Given the description of an element on the screen output the (x, y) to click on. 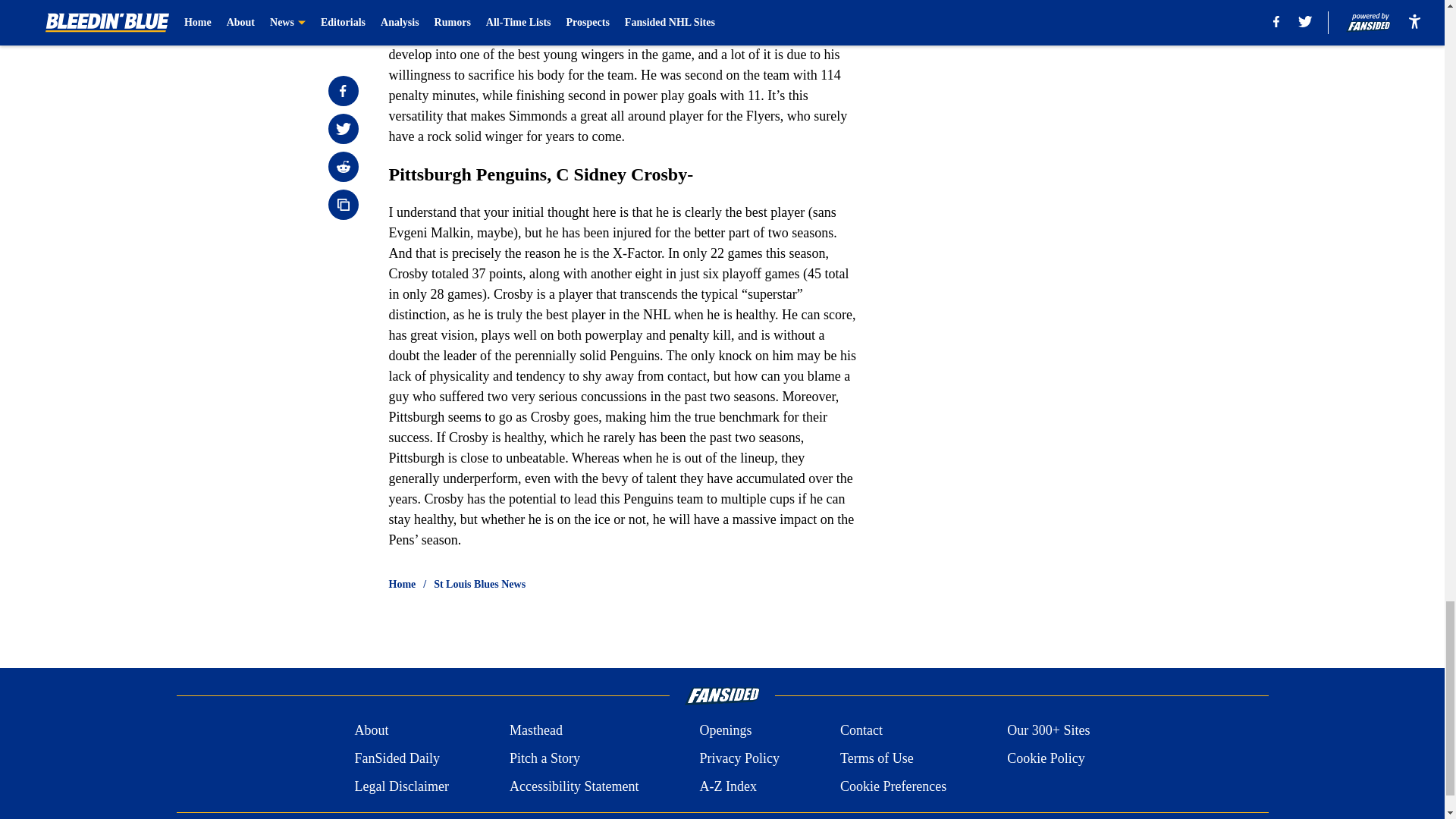
Terms of Use (877, 758)
Cookie Preferences (893, 786)
Openings (724, 730)
St Louis Blues News (479, 584)
Home (401, 584)
Masthead (535, 730)
Contact (861, 730)
About (370, 730)
Accessibility Statement (574, 786)
Cookie Policy (1045, 758)
A-Z Index (726, 786)
Legal Disclaimer (400, 786)
Privacy Policy (738, 758)
Pitch a Story (544, 758)
FanSided Daily (396, 758)
